Given the description of an element on the screen output the (x, y) to click on. 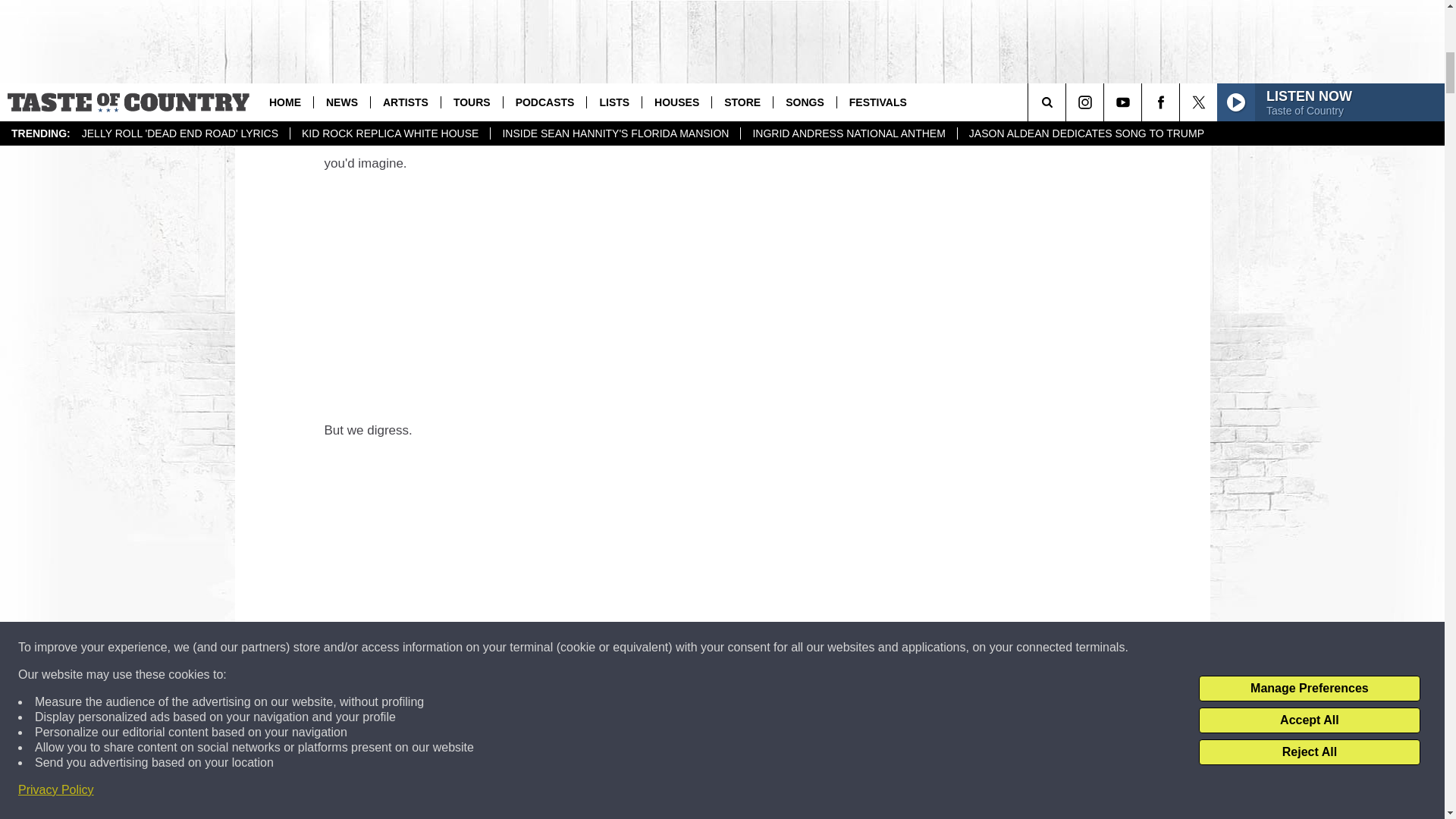
wishing her man (375, 114)
